Given the description of an element on the screen output the (x, y) to click on. 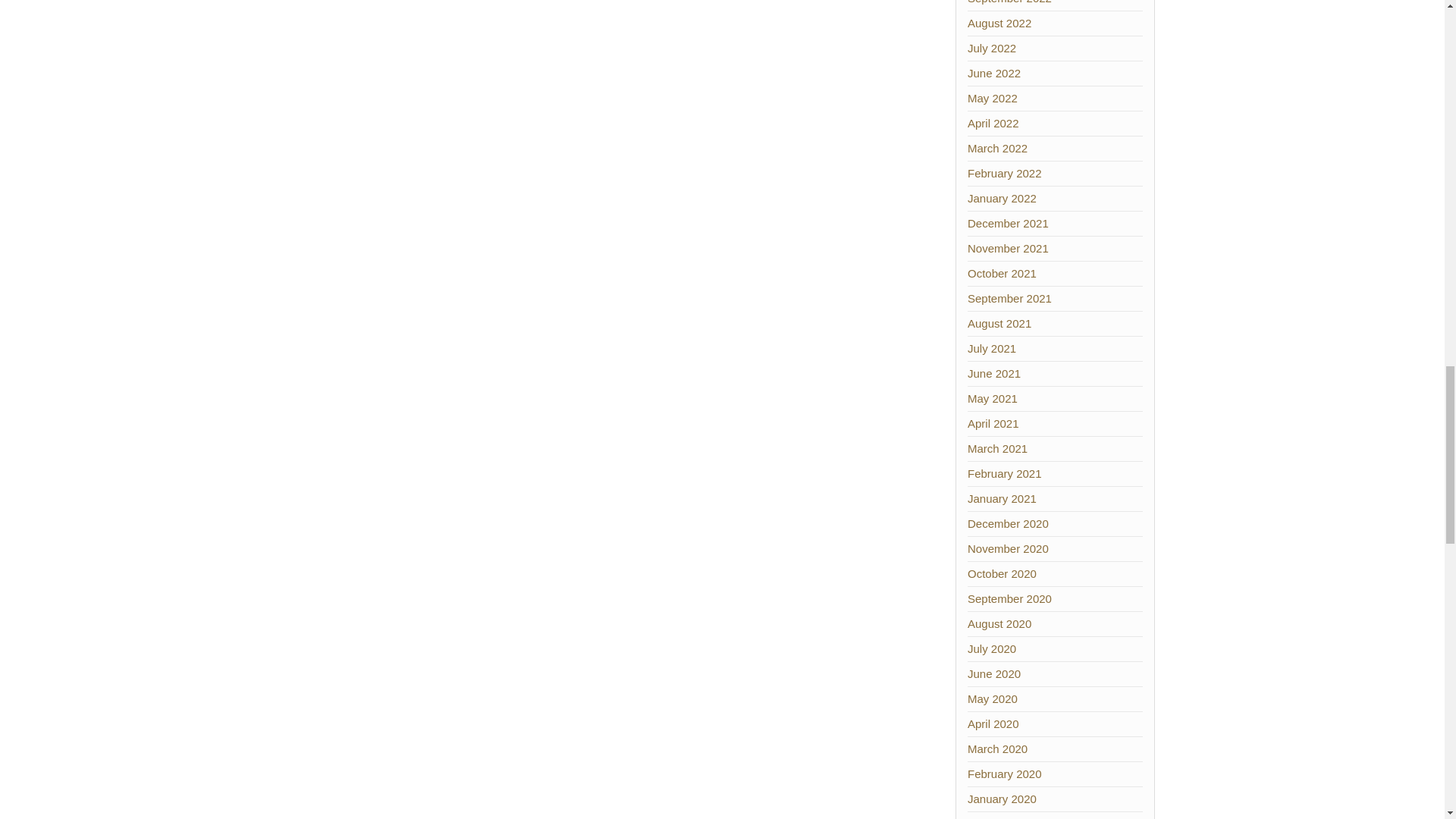
June 2022 (994, 72)
July 2022 (992, 47)
May 2022 (992, 97)
September 2022 (1009, 2)
August 2022 (999, 22)
April 2022 (993, 123)
